Given the description of an element on the screen output the (x, y) to click on. 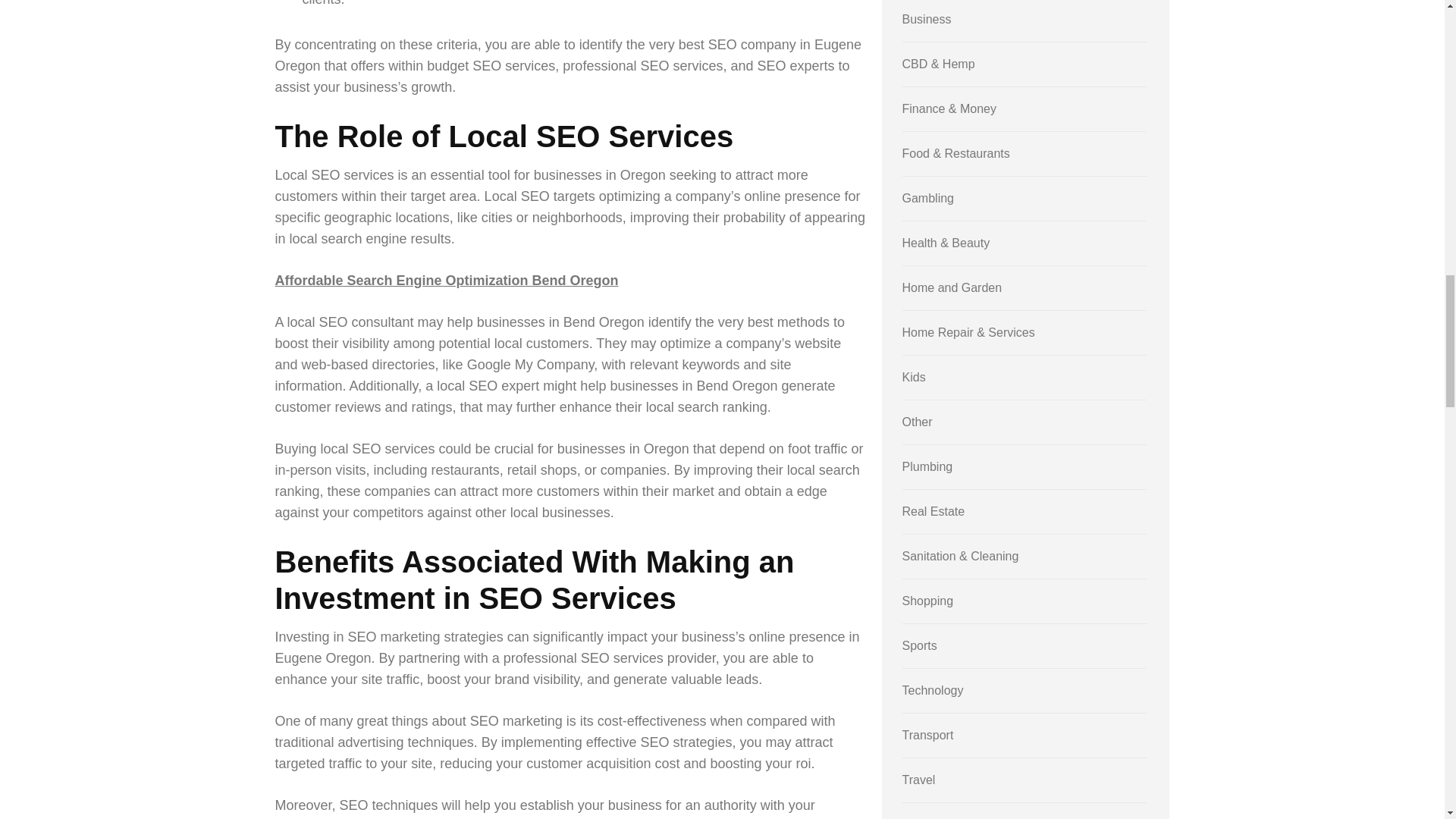
Affordable Search Engine Optimization Bend Oregon (446, 280)
